Given the description of an element on the screen output the (x, y) to click on. 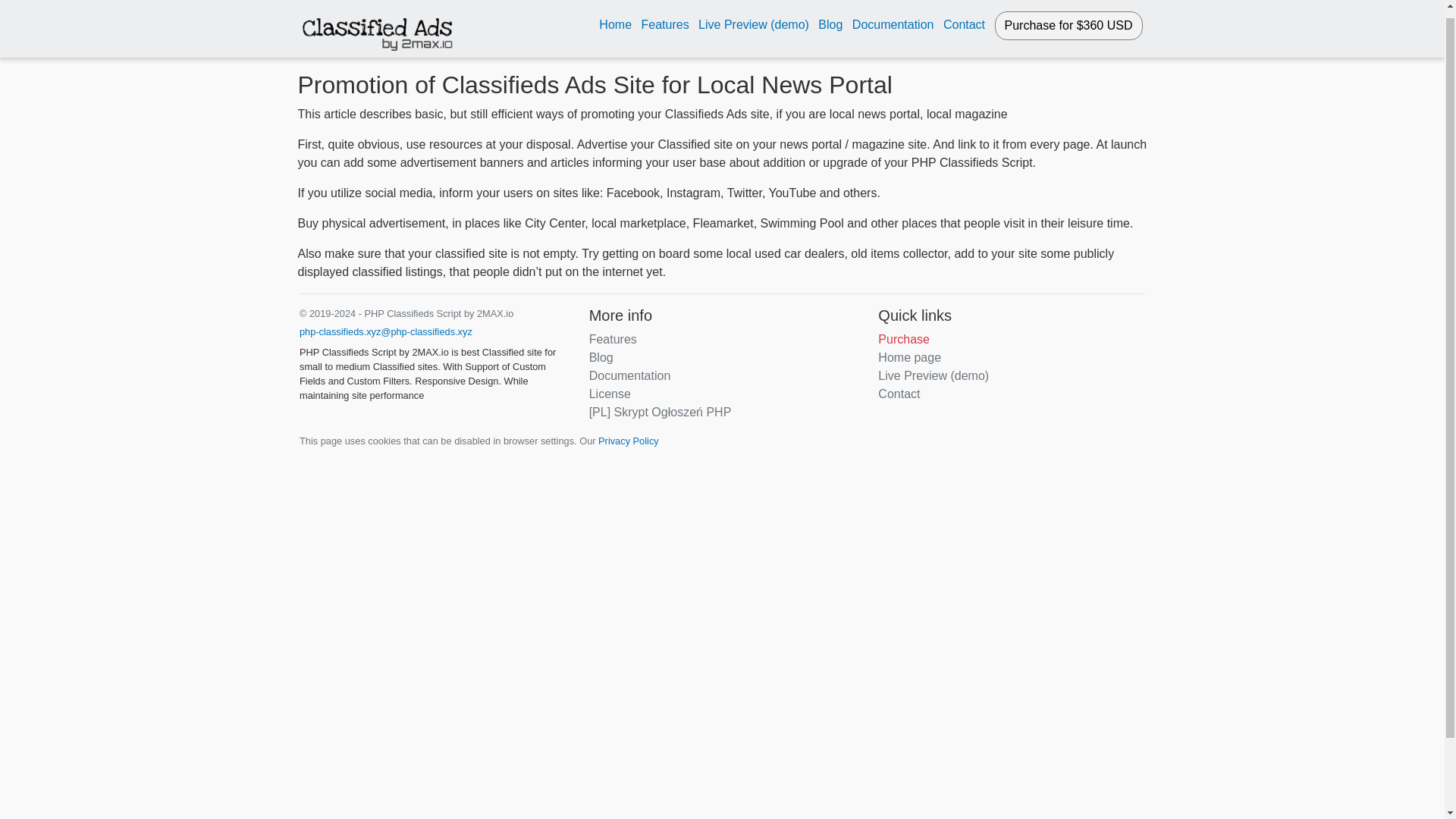
Home (614, 15)
Privacy Policy (628, 440)
Features (613, 338)
Home page (908, 357)
Blog (600, 357)
Documentation (892, 15)
Features (664, 15)
Contact (964, 15)
Contact (898, 393)
2MAX.io PHP Classifieds (376, 22)
Blog (830, 15)
Documentation (630, 375)
Purchase (903, 338)
License (609, 393)
